Given the description of an element on the screen output the (x, y) to click on. 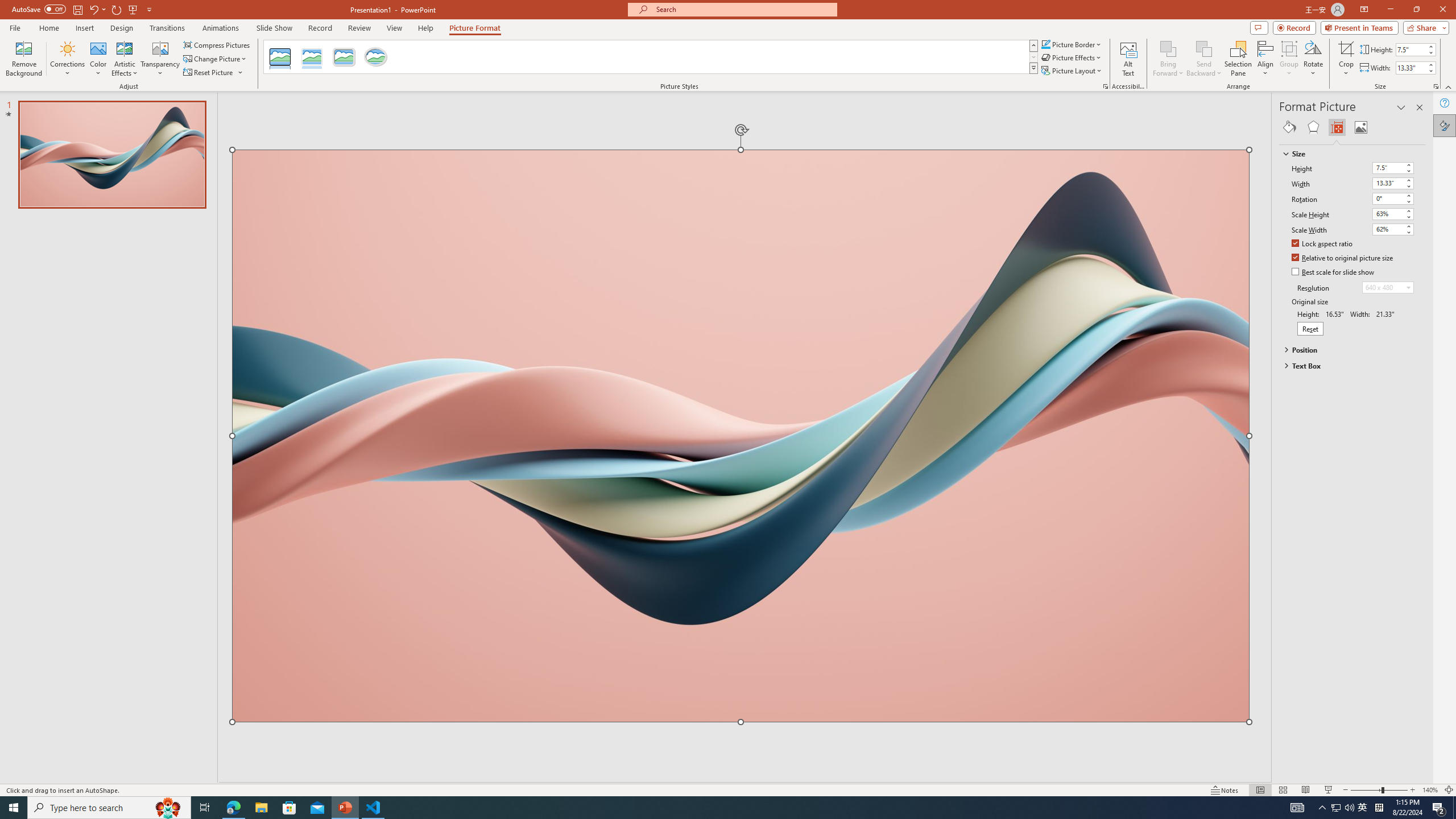
Bring Forward (1168, 58)
Size & Properties (1336, 126)
Bring Forward (1168, 48)
Height (1388, 167)
Scale Width (1393, 229)
Shape Width (1410, 67)
Group (1288, 58)
Selection Pane... (1238, 58)
Send Backward (1204, 58)
